Given the description of an element on the screen output the (x, y) to click on. 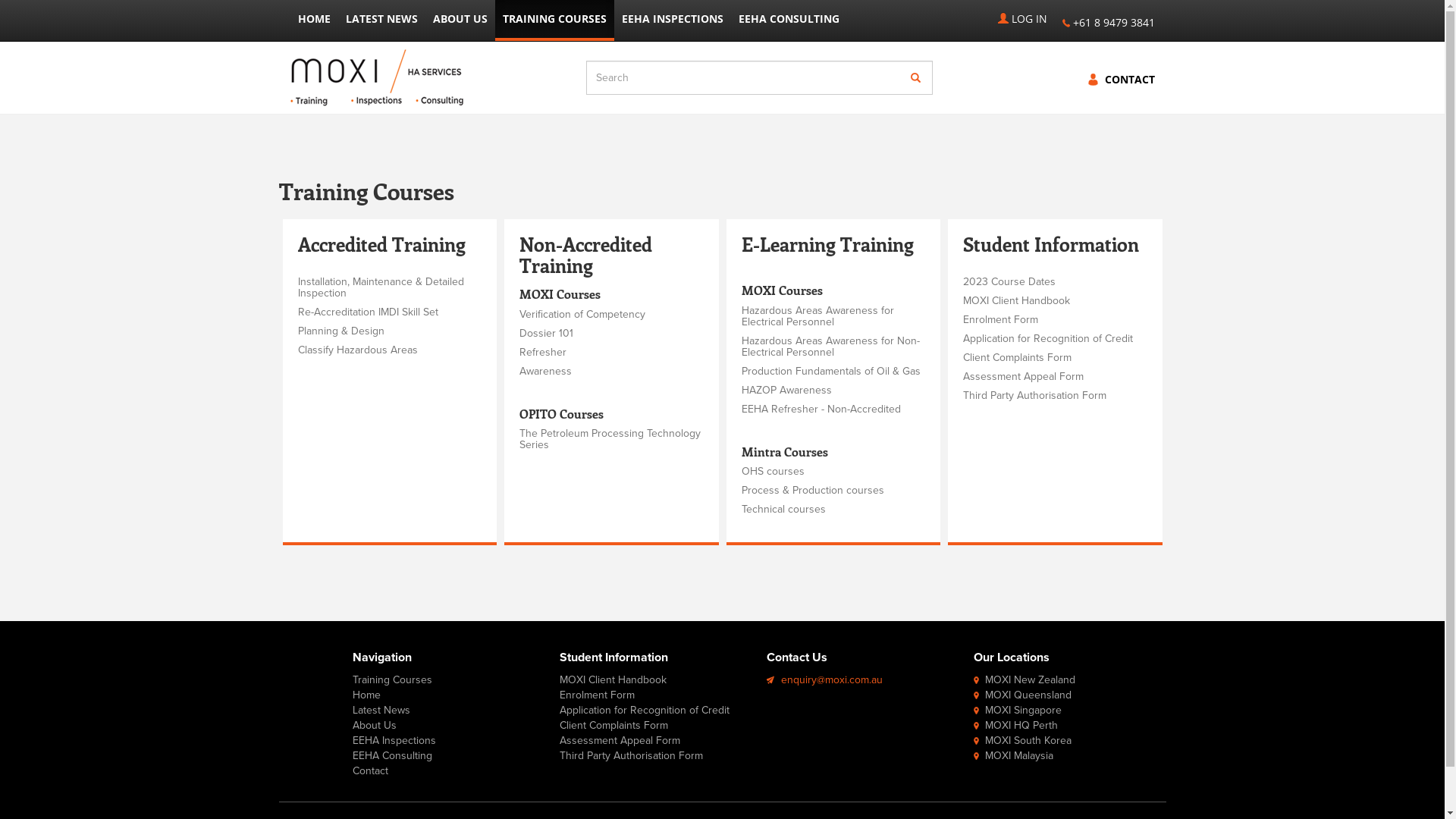
EEHA Inspections Element type: text (394, 740)
Application for Recognition of Credit Element type: text (1047, 338)
Client Complaints Form Element type: text (613, 724)
MOXI Client Handbook Element type: text (1016, 300)
HAZOP Awareness Element type: text (786, 389)
enquiry@moxi.com.au Element type: text (831, 679)
Third Party Authorisation Form Element type: text (1034, 395)
Refresher Element type: text (542, 351)
Assessment Appeal Form Element type: text (1023, 376)
Awareness Element type: text (545, 370)
MOXI Malaysia Element type: text (1019, 755)
EEHA CONSULTING Element type: text (789, 18)
Client Complaints Form Element type: text (1017, 357)
HOME Element type: text (313, 18)
Application for Recognition of Credit Element type: text (644, 709)
Installation, Maintenance & Detailed Inspection Element type: text (380, 287)
EEHA INSPECTIONS Element type: text (672, 18)
2023 Course Dates Element type: text (1009, 281)
LATEST NEWS Element type: text (381, 18)
TRAINING COURSES Element type: text (553, 20)
Production Fundamentals of Oil & Gas Element type: text (830, 370)
OHS courses Element type: text (772, 470)
Verification of Competency Element type: text (582, 313)
MOXI New Zealand Element type: text (1030, 679)
MOXI Singapore Element type: text (1023, 709)
Latest News Element type: text (381, 709)
The Petroleum Processing Technology Series Element type: text (609, 438)
MOXI South Korea Element type: text (1028, 740)
Planning & Design Element type: text (340, 330)
CONTACT Element type: text (1129, 79)
Enrolment Form Element type: text (596, 694)
Home Element type: text (366, 694)
Process & Production courses Element type: text (812, 489)
Hazardous Areas Awareness for Non-Electrical Personnel Element type: text (830, 346)
EEHA Consulting Element type: text (392, 755)
Assessment Appeal Form Element type: text (619, 740)
Re-Accreditation IMDI Skill Set Element type: text (367, 311)
Technical courses Element type: text (783, 508)
EEHA Refresher - Non-Accredited Element type: text (820, 408)
MOXI HQ Perth Element type: text (1021, 724)
Enrolment Form Element type: text (1000, 319)
Training Courses Element type: text (392, 679)
Hazardous Areas Awareness for Electrical Personnel Element type: text (817, 316)
Third Party Authorisation Form Element type: text (630, 755)
About Us Element type: text (374, 724)
MOXI Queensland Element type: text (1028, 694)
Classify Hazardous Areas Element type: text (357, 349)
MOXI Client Handbook Element type: text (612, 679)
Contact Element type: text (370, 770)
Dossier 101 Element type: text (546, 332)
LOG IN Element type: text (1022, 18)
ABOUT US Element type: text (459, 18)
